Given the description of an element on the screen output the (x, y) to click on. 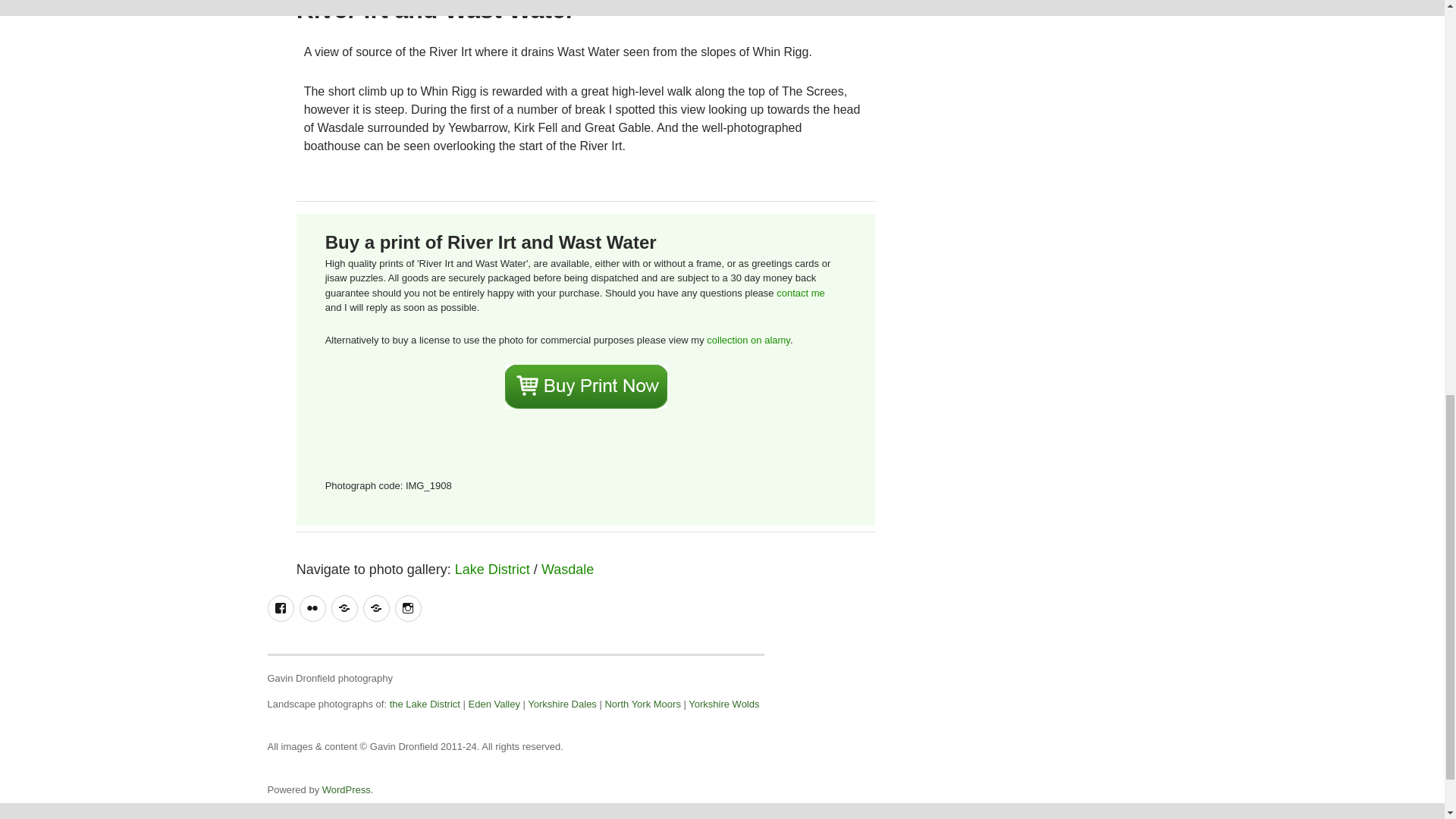
Lake District (491, 569)
collection on alamy (748, 339)
Wasdale (567, 569)
contact me (800, 292)
